Given the description of an element on the screen output the (x, y) to click on. 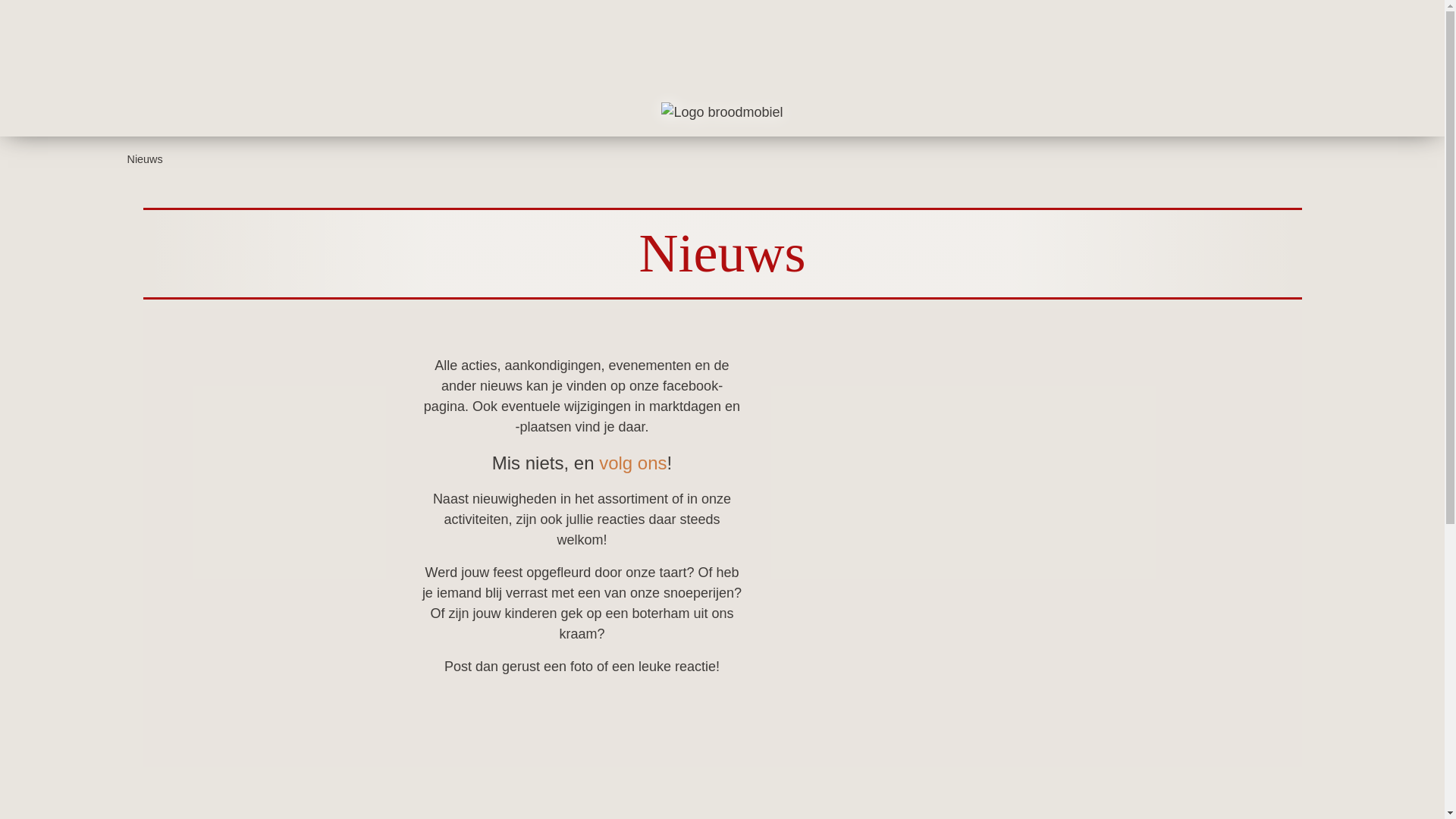
volg ons Element type: text (632, 462)
Overslaan en naar de inhoud gaan Element type: text (0, 0)
